Given the description of an element on the screen output the (x, y) to click on. 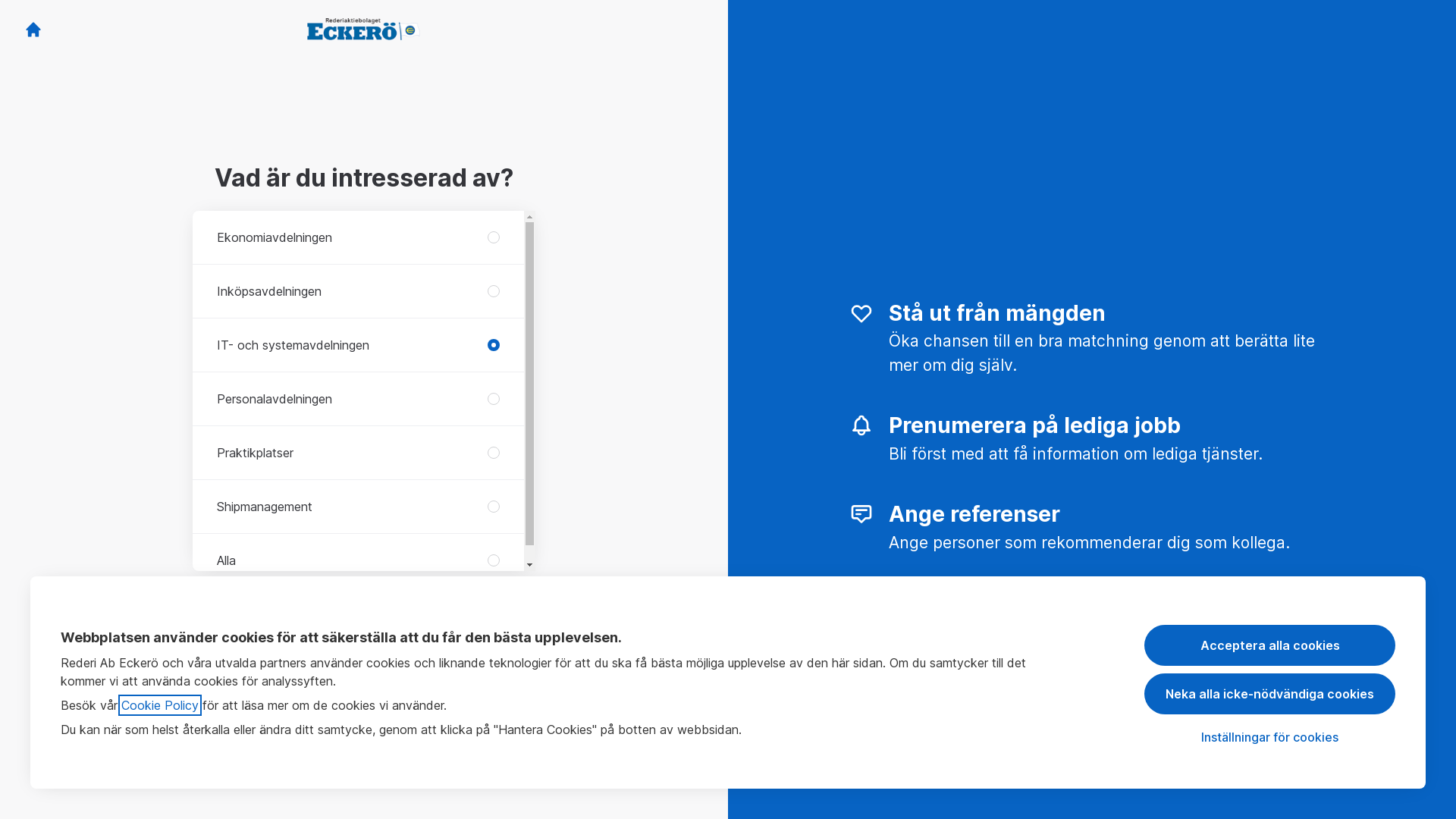
Acceptera alla cookies Element type: text (1269, 644)
Cookie Policy Element type: text (159, 704)
Logga in Element type: text (434, 773)
